Given the description of an element on the screen output the (x, y) to click on. 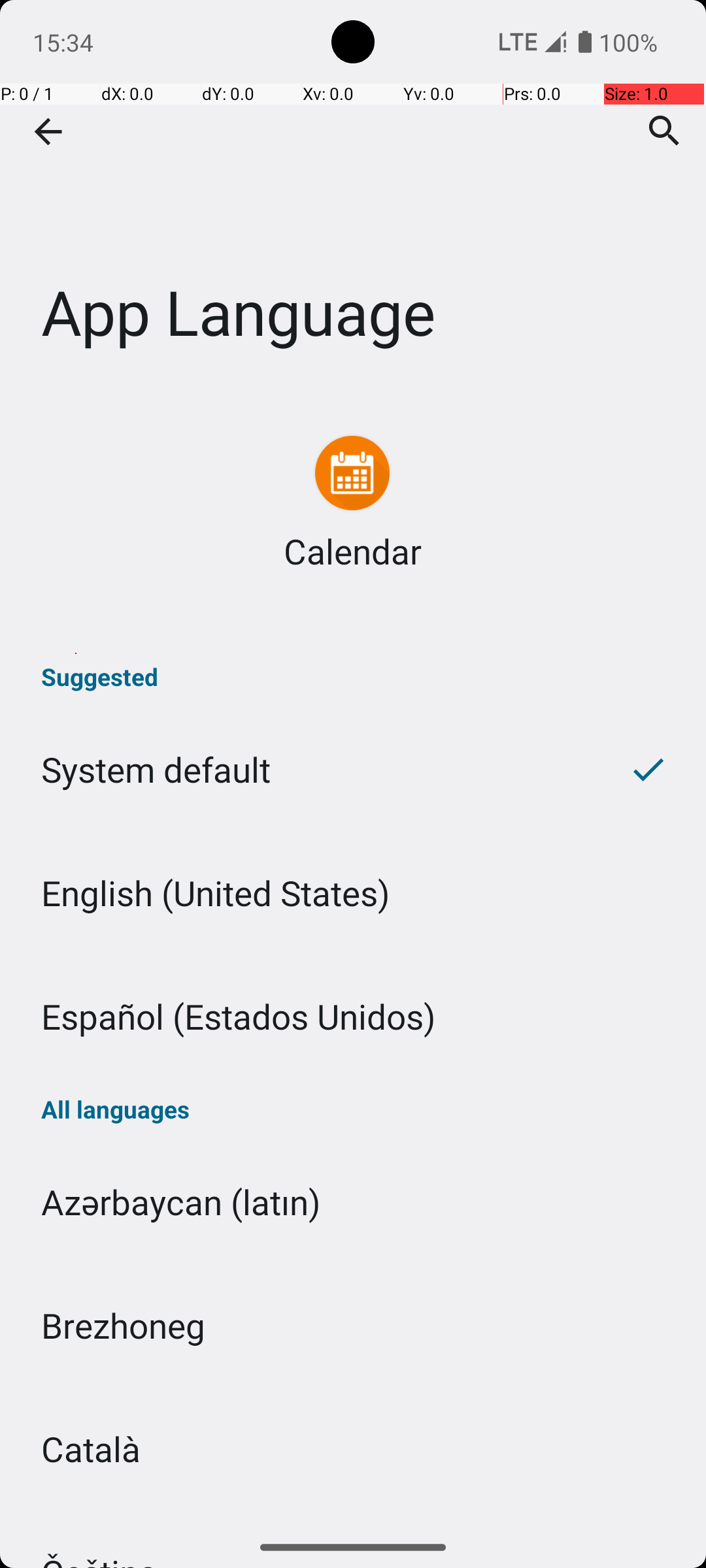
App Language Element type: android.widget.FrameLayout (353, 195)
Suggested Element type: android.widget.TextView (353, 676)
English (United States) Element type: android.widget.TextView (353, 892)
Español (Estados Unidos) Element type: android.widget.TextView (353, 1016)
All languages Element type: android.widget.TextView (353, 1109)
Azərbaycan (latın) Element type: android.widget.TextView (353, 1201)
Brezhoneg Element type: android.widget.TextView (353, 1325)
Català Element type: android.widget.TextView (353, 1448)
Čeština Element type: android.widget.TextView (353, 1518)
